Given the description of an element on the screen output the (x, y) to click on. 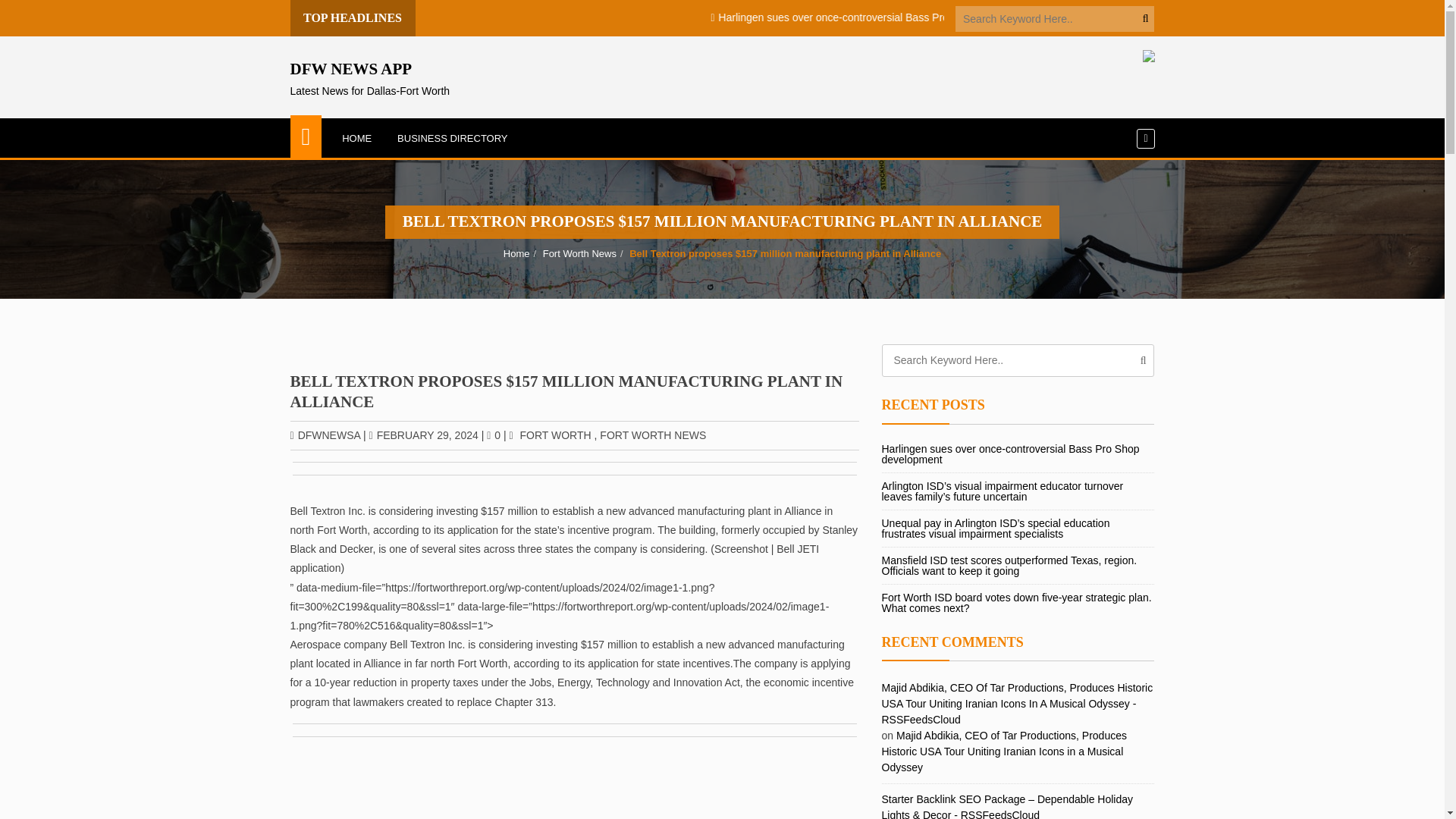
HOME (356, 137)
FEBRUARY 29, 2024 (422, 435)
DFWNEWSA (324, 435)
Home (369, 78)
0 (516, 253)
FORT WORTH NEWS (493, 435)
Advertisement (652, 435)
Fort Worth News (574, 500)
FORT WORTH (579, 253)
BUSINESS DIRECTORY (555, 435)
Advertisement (451, 137)
